Given the description of an element on the screen output the (x, y) to click on. 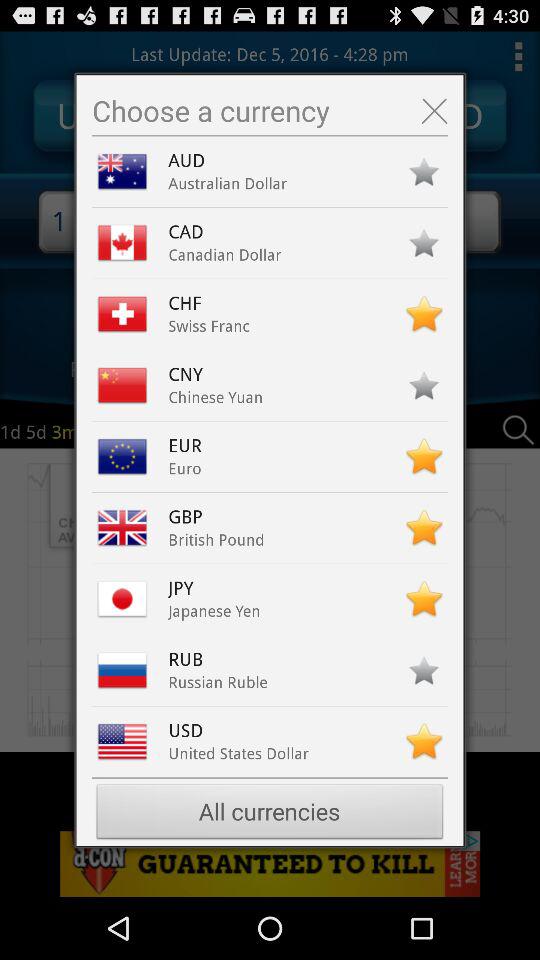
press app above usd app (217, 682)
